Given the description of an element on the screen output the (x, y) to click on. 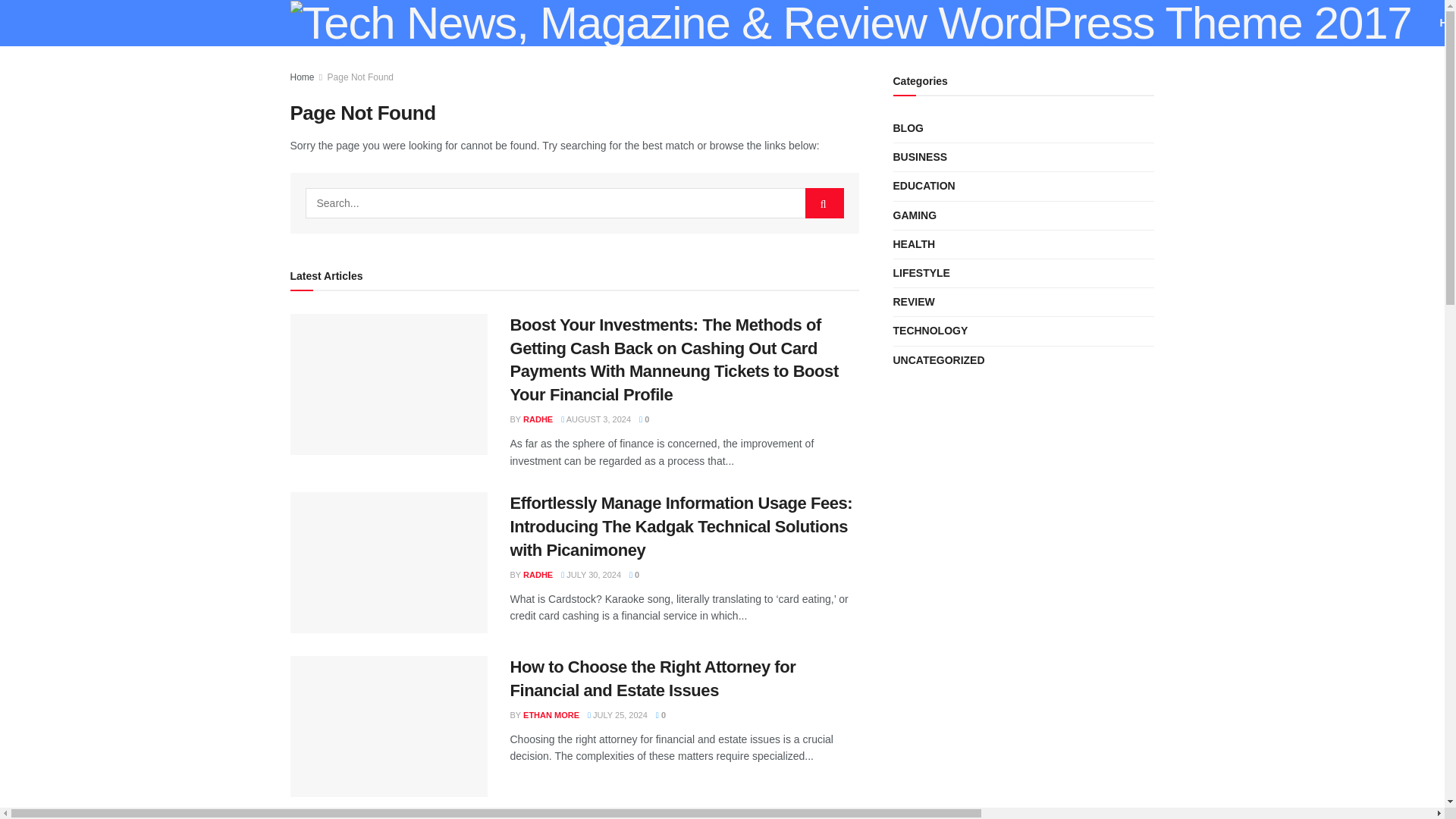
0 (644, 419)
AUGUST 3, 2024 (595, 419)
Home (301, 77)
RADHE (537, 419)
Page Not Found (360, 77)
